Given the description of an element on the screen output the (x, y) to click on. 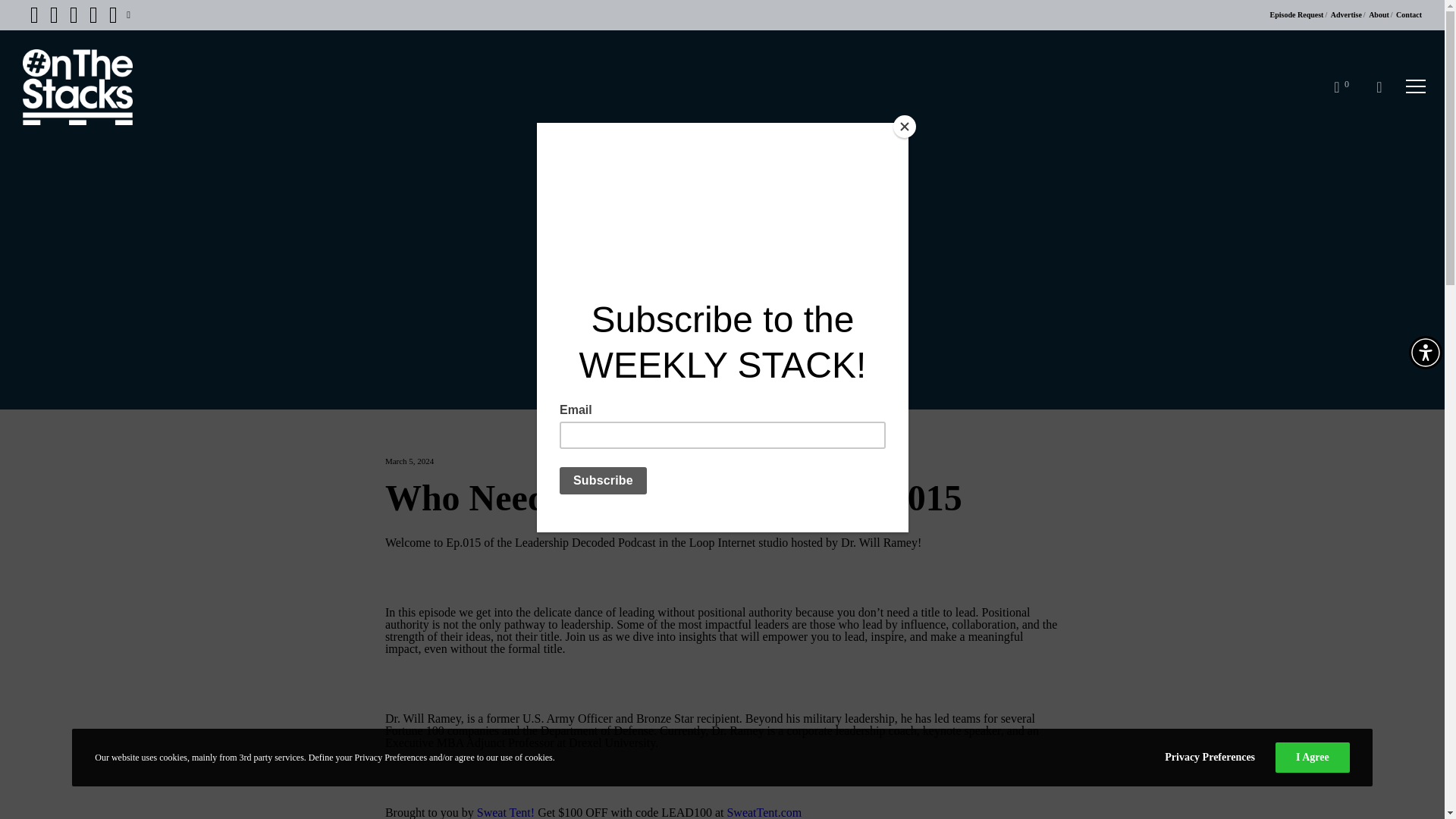
Accessibility Menu (1425, 352)
Contact (1409, 14)
About (1378, 14)
Episode Request (1296, 14)
Sweat Tent! (505, 812)
Advertise (1345, 14)
SweatTent.com (764, 812)
